Given the description of an element on the screen output the (x, y) to click on. 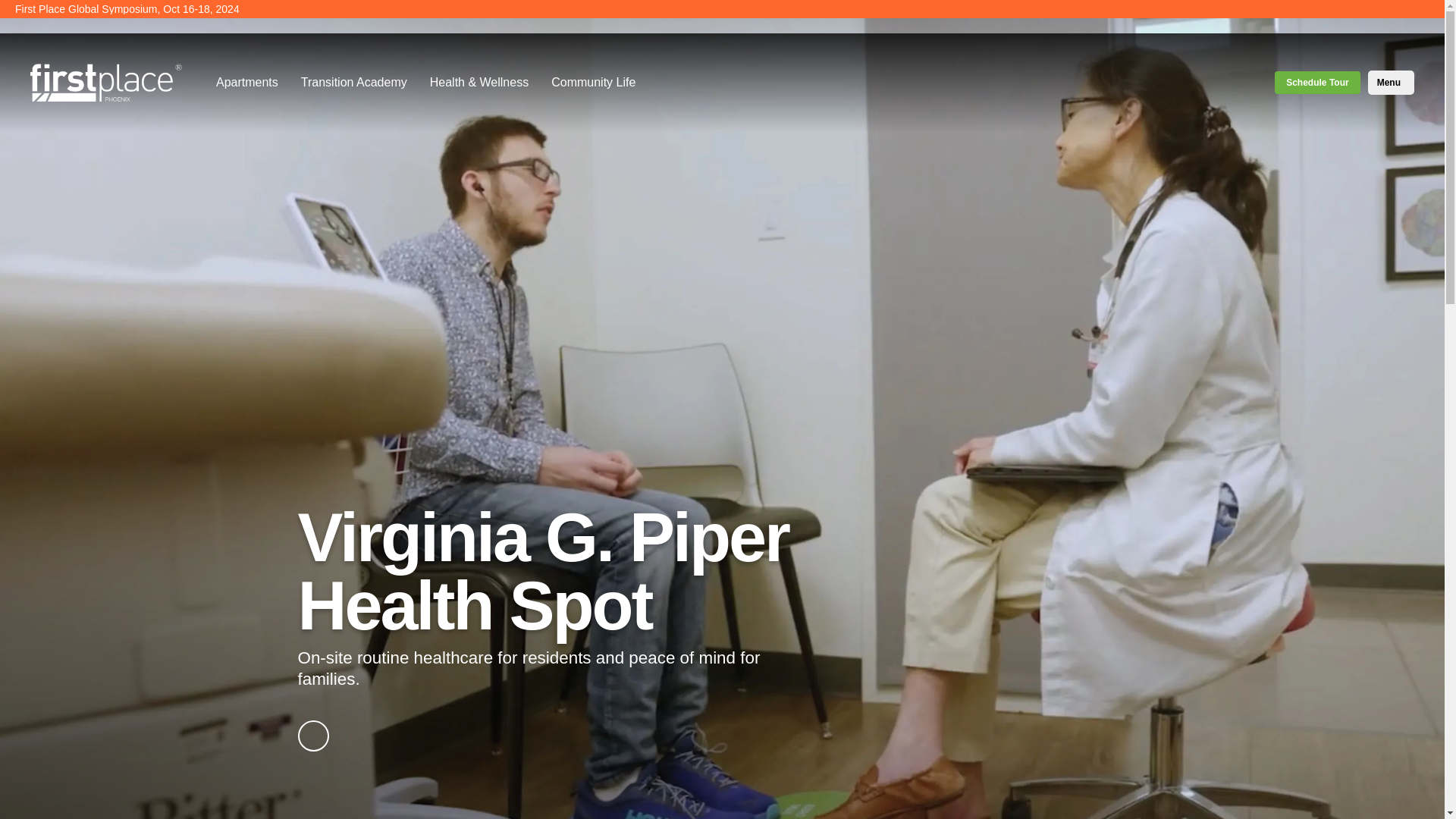
Apartments (247, 82)
Transition Academy (354, 82)
Enroll in Be Ready to gain valuable job skills. (7, 9)
Community Life (593, 82)
